Given the description of an element on the screen output the (x, y) to click on. 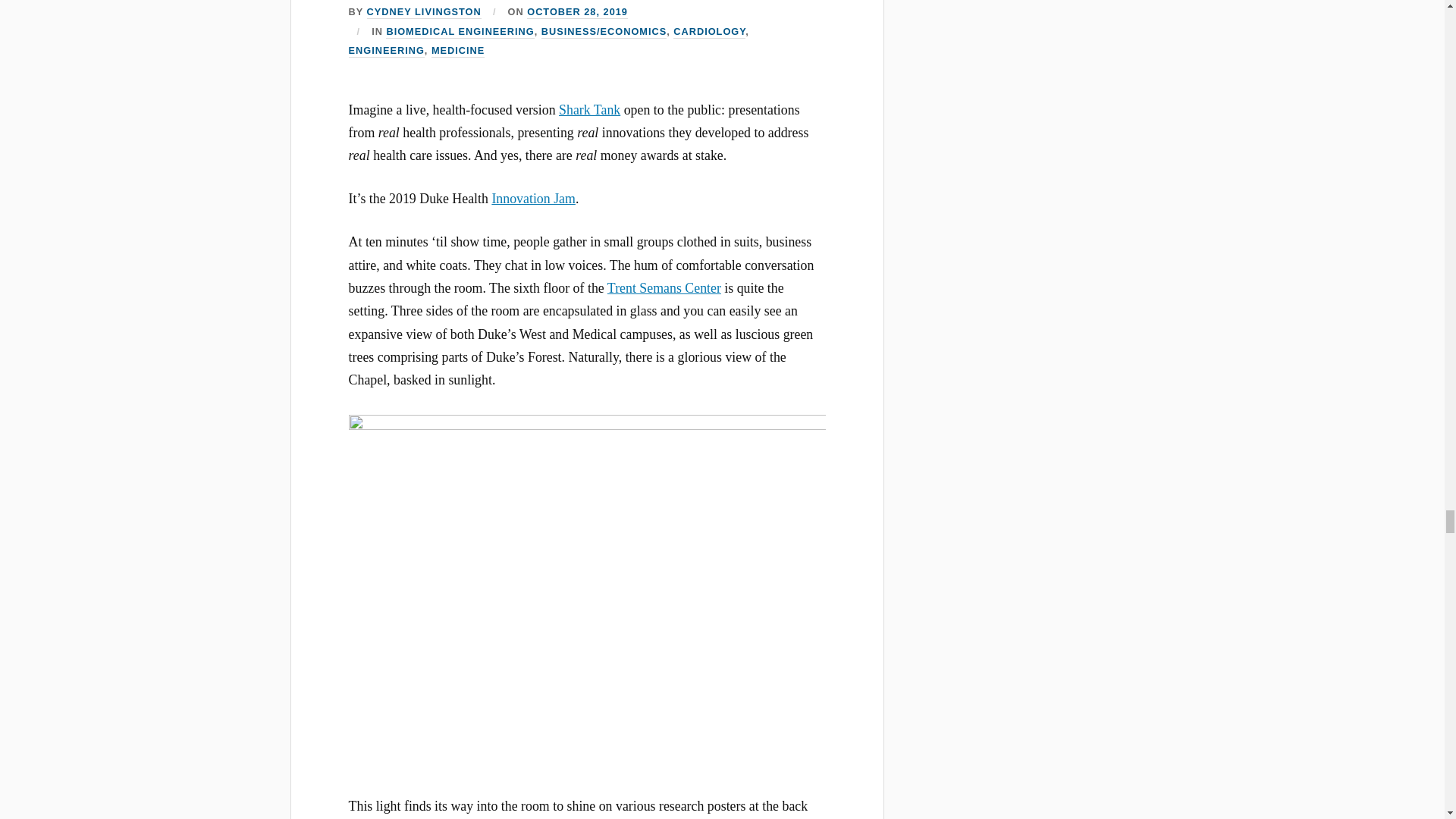
Posts by Cydney Livingston (423, 11)
